Given the description of an element on the screen output the (x, y) to click on. 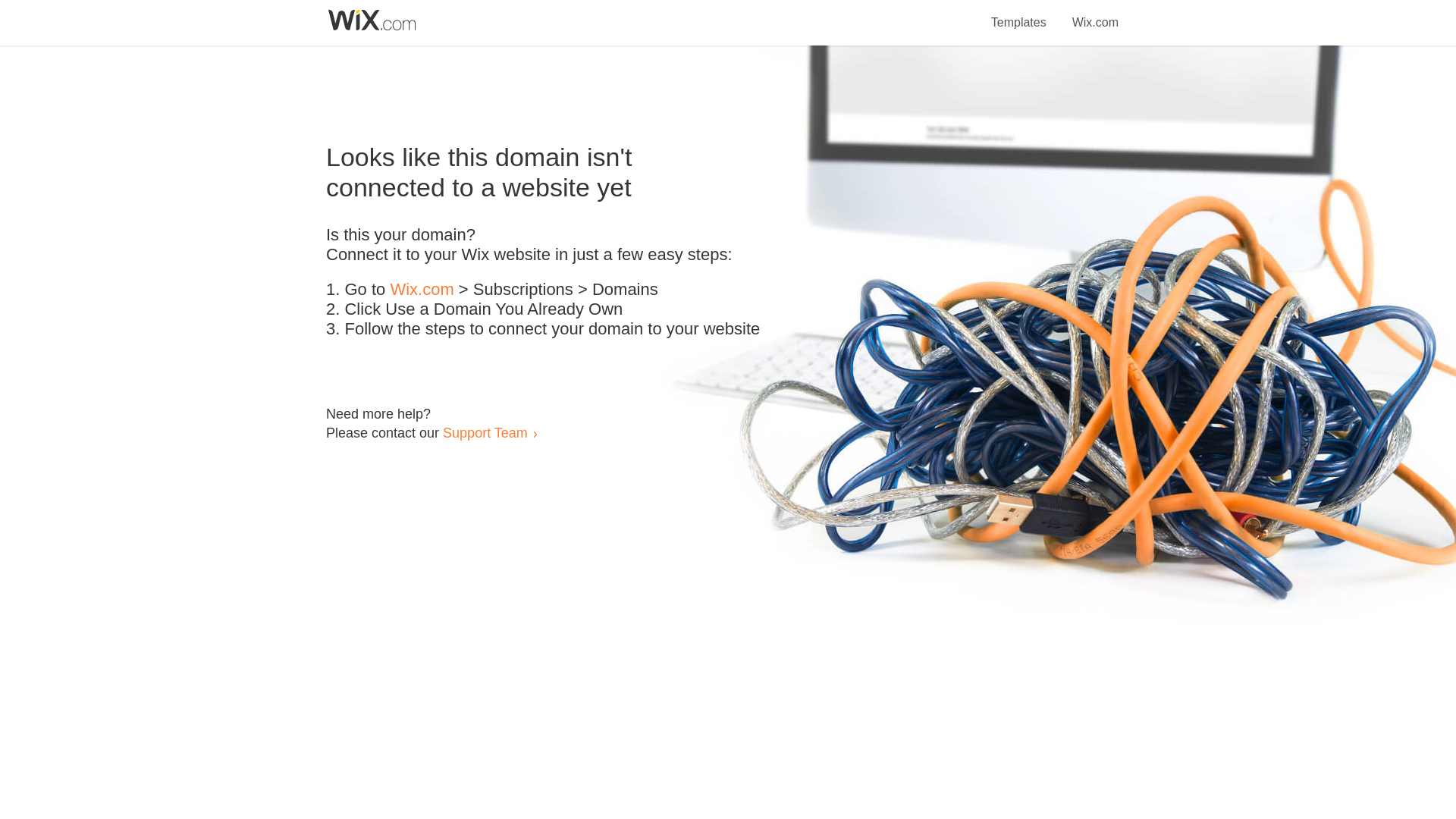
Support Team (484, 432)
Wix.com (1095, 14)
Templates (1018, 14)
Wix.com (421, 289)
